Given the description of an element on the screen output the (x, y) to click on. 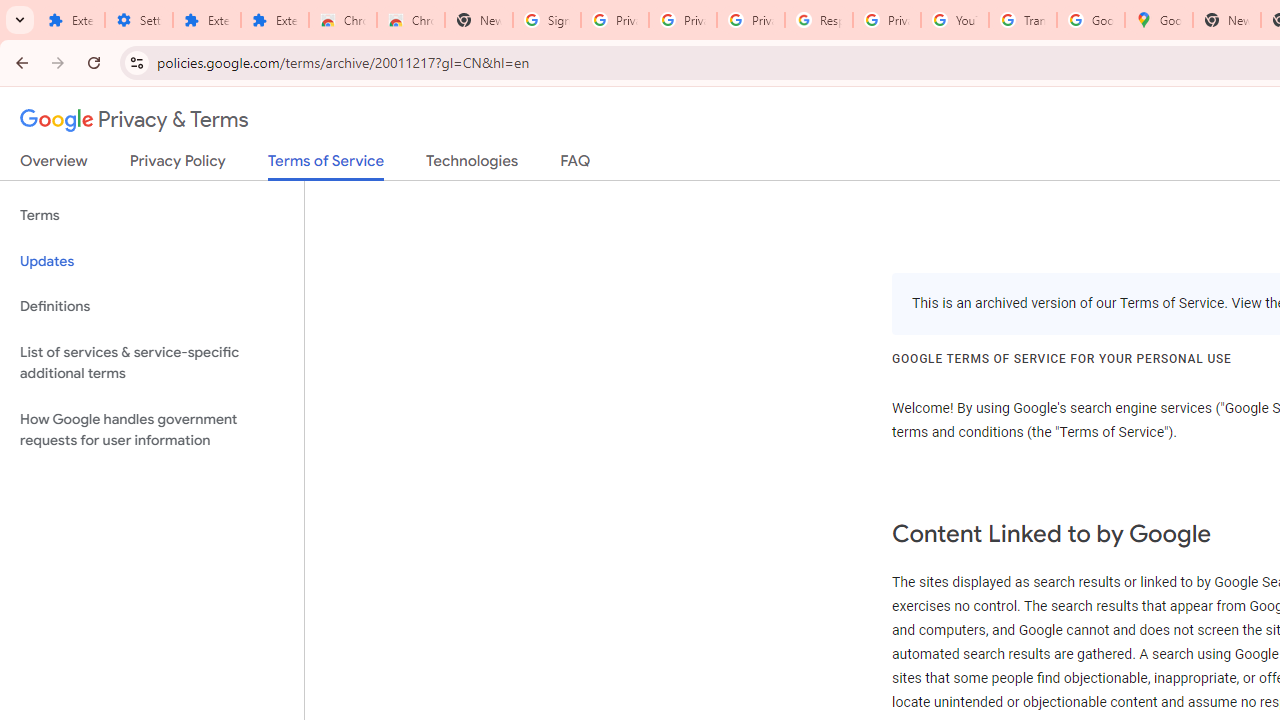
Definitions (152, 306)
New Tab (1226, 20)
Chrome Web Store - Themes (411, 20)
List of services & service-specific additional terms (152, 362)
Settings (138, 20)
Extensions (206, 20)
How Google handles government requests for user information (152, 429)
Sign in - Google Accounts (547, 20)
